Given the description of an element on the screen output the (x, y) to click on. 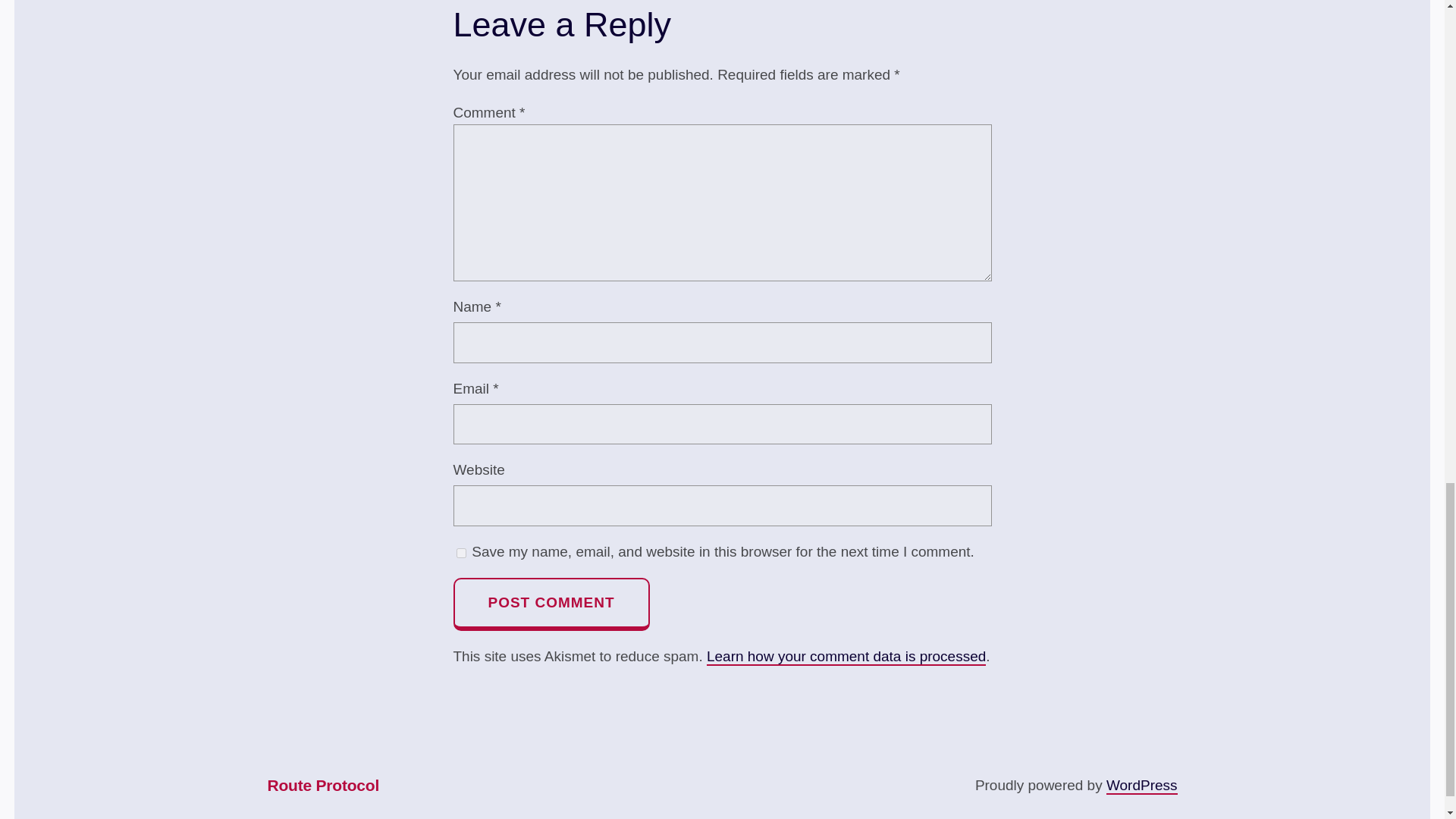
Post Comment (550, 604)
Post Comment (550, 604)
WordPress (1141, 785)
Learn how your comment data is processed (845, 656)
Route Protocol (322, 785)
